Given the description of an element on the screen output the (x, y) to click on. 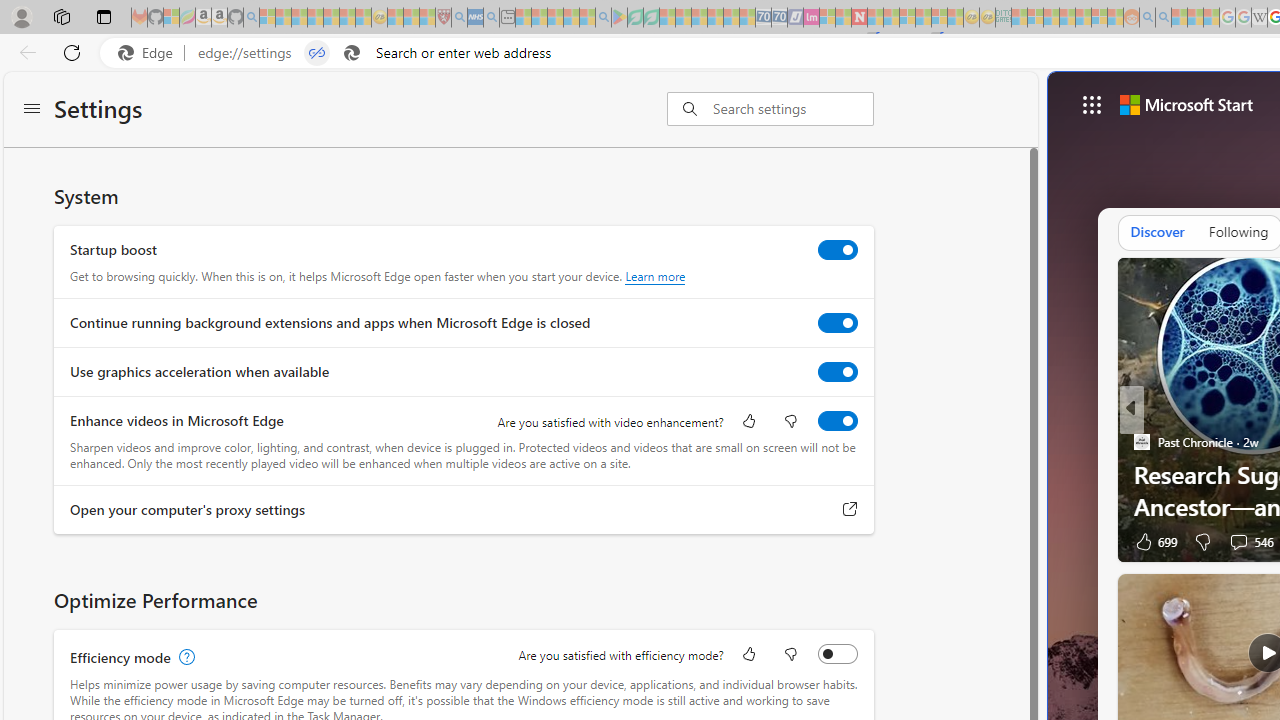
Learn more (655, 276)
Microsoft start (1186, 104)
Local - MSN - Sleeping (427, 17)
Kinda Frugal - MSN - Sleeping (1083, 17)
Expert Portfolios - Sleeping (1067, 17)
Startup boost (837, 249)
google - Search - Sleeping (603, 17)
New Report Confirms 2023 Was Record Hot | Watch - Sleeping (331, 17)
